Given the description of an element on the screen output the (x, y) to click on. 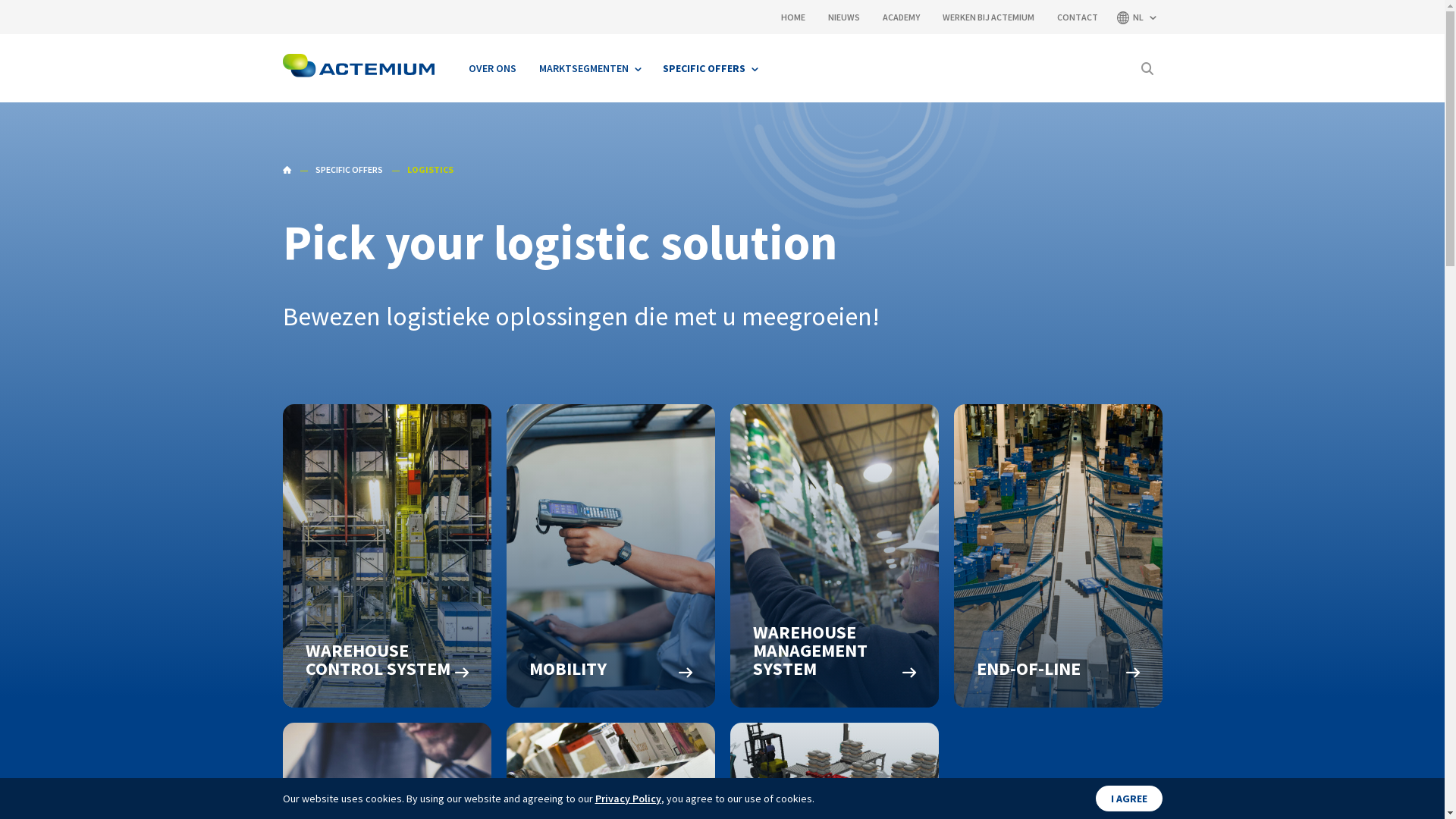
MARKTSEGMENTEN Element type: text (589, 68)
SPECIFIC OFFERS Element type: text (348, 169)
END-OF-LINE Element type: text (1057, 555)
NL Element type: text (1134, 17)
CONTACT Element type: text (1077, 17)
ACADEMY Element type: text (901, 17)
HOME Element type: text (286, 169)
I AGREE Element type: text (1128, 798)
Privacy Policy Element type: text (627, 798)
WAREHOUSE CONTROL SYSTEM Element type: text (386, 555)
NIEUWS Element type: text (843, 17)
SPECIFIC OFFERS Element type: text (708, 68)
WAREHOUSE MANAGEMENT SYSTEM Element type: text (833, 555)
MOBILITY Element type: text (610, 555)
HOME Element type: text (792, 17)
OVER ONS Element type: text (491, 68)
WERKEN BIJ ACTEMIUM Element type: text (987, 17)
